Given the description of an element on the screen output the (x, y) to click on. 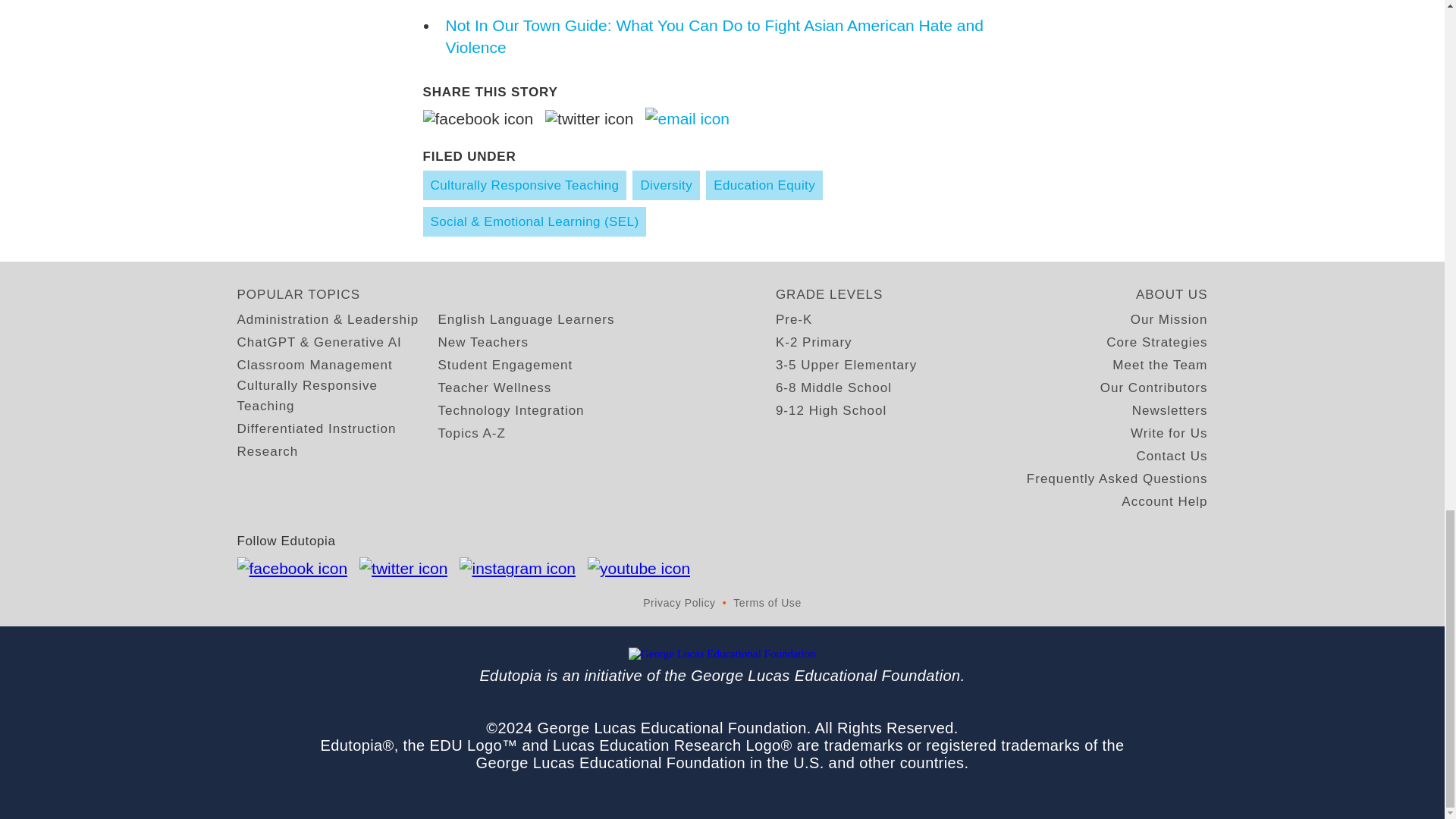
Classroom Management (313, 364)
Diversity (665, 184)
Culturally Responsive Teaching (525, 184)
Culturally Responsive Teaching (336, 395)
Education Equity (764, 184)
